Given the description of an element on the screen output the (x, y) to click on. 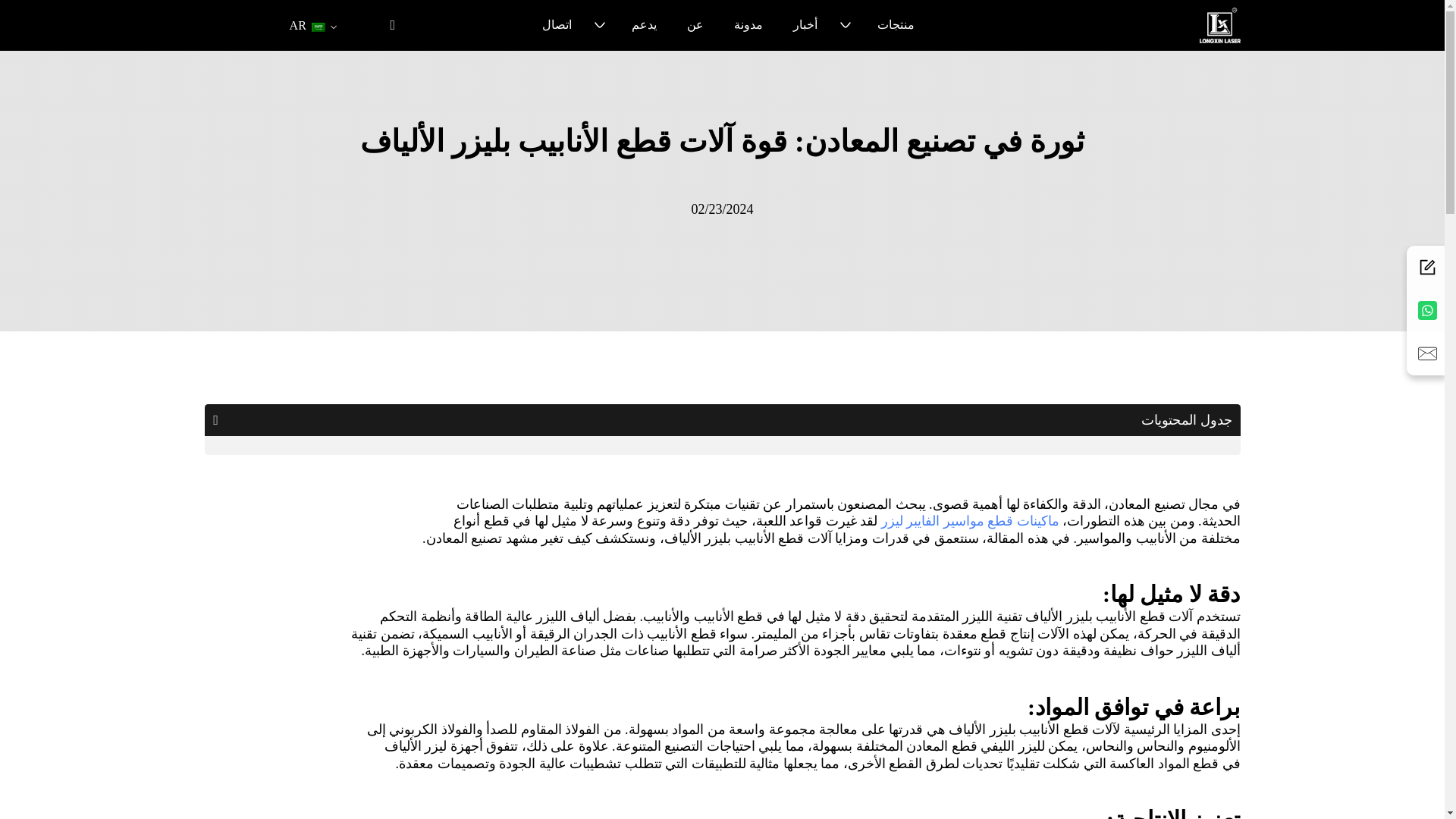
AR (308, 26)
